Given the description of an element on the screen output the (x, y) to click on. 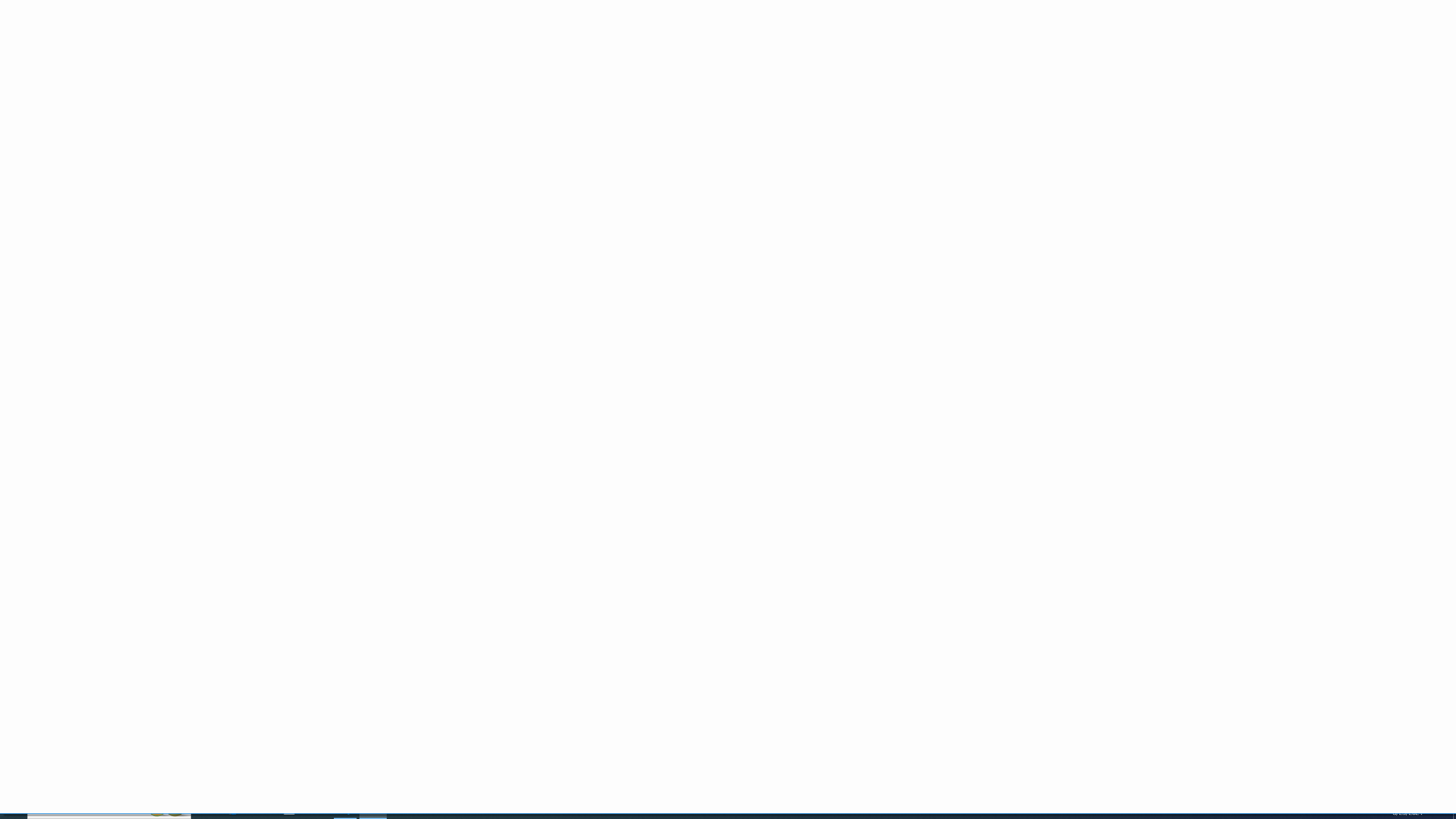
Row up (887, 45)
Cell Styles (887, 68)
Clear (1003, 69)
Formula Bar (799, 104)
Accounting Number Format (426, 67)
Font Size (204, 49)
Align Left (262, 67)
Number Format (451, 49)
Format (962, 58)
